Given the description of an element on the screen output the (x, y) to click on. 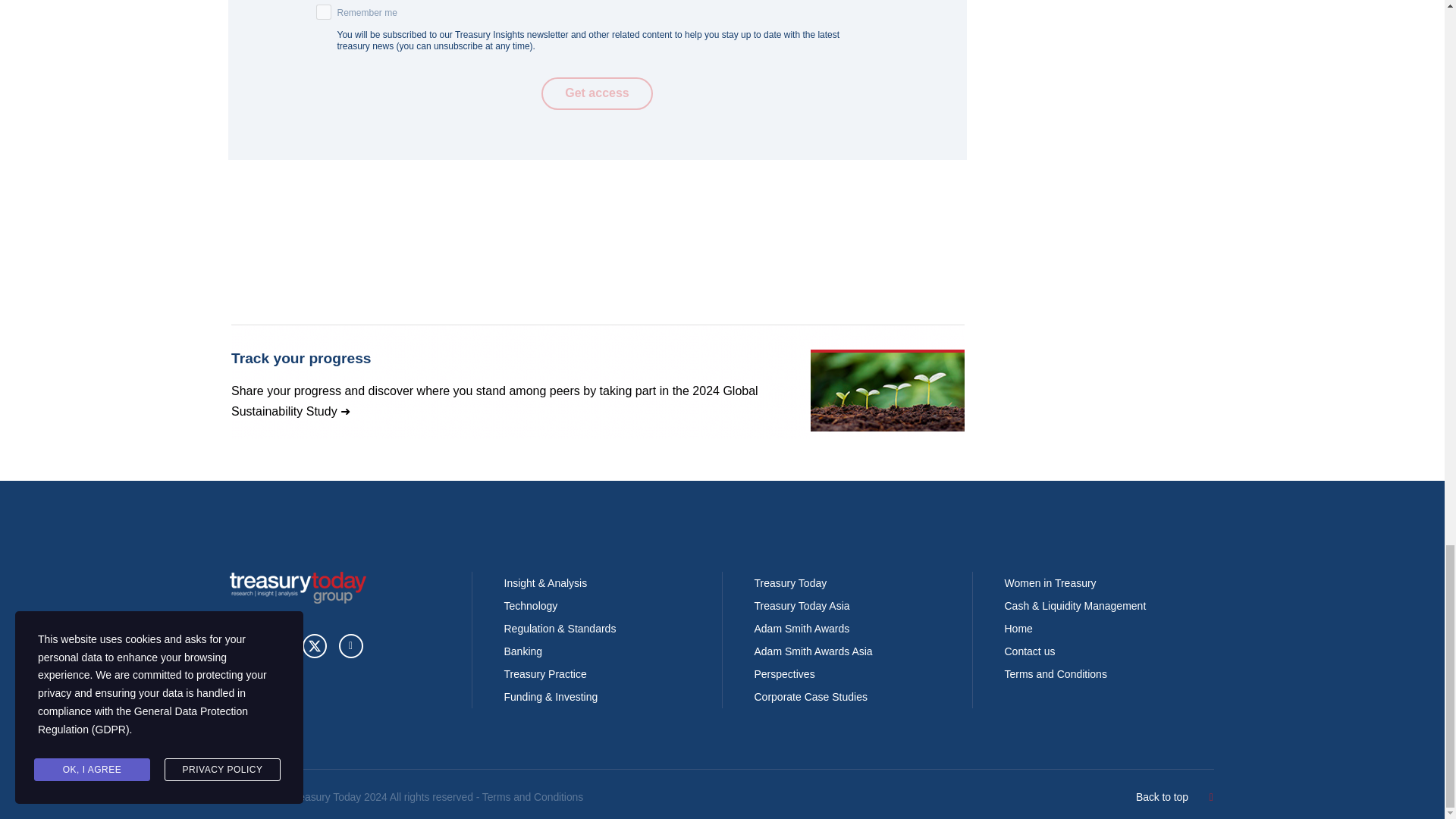
on (322, 11)
3rd party ad content (596, 381)
